Given the description of an element on the screen output the (x, y) to click on. 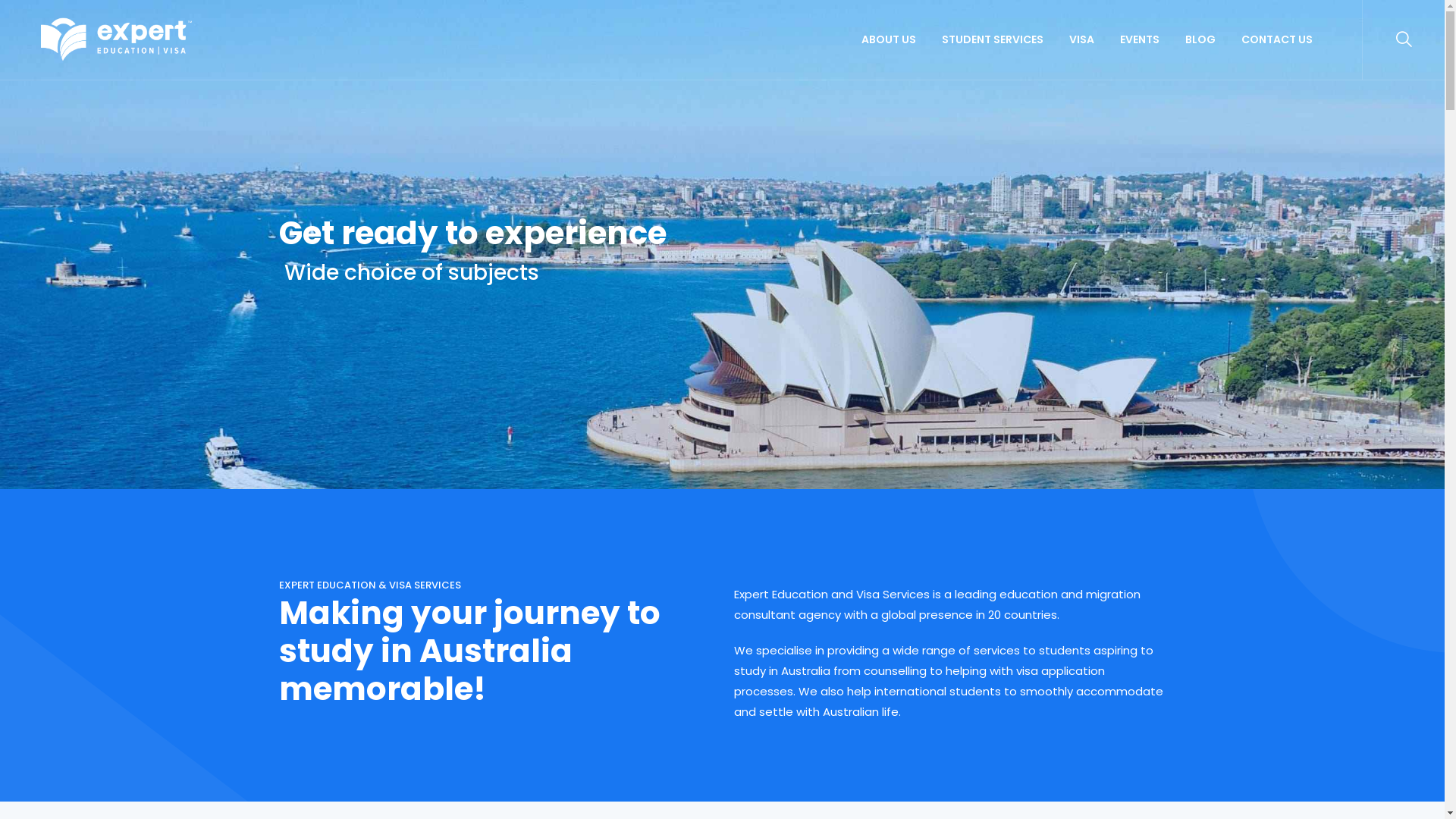
CONTACT US Element type: text (1276, 39)
BLOG Element type: text (1200, 39)
VISA Element type: text (1081, 39)
ABOUT US Element type: text (888, 39)
Expert Education Australia Element type: hover (115, 39)
EVENTS Element type: text (1139, 39)
STUDENT SERVICES Element type: text (992, 39)
